Given the description of an element on the screen output the (x, y) to click on. 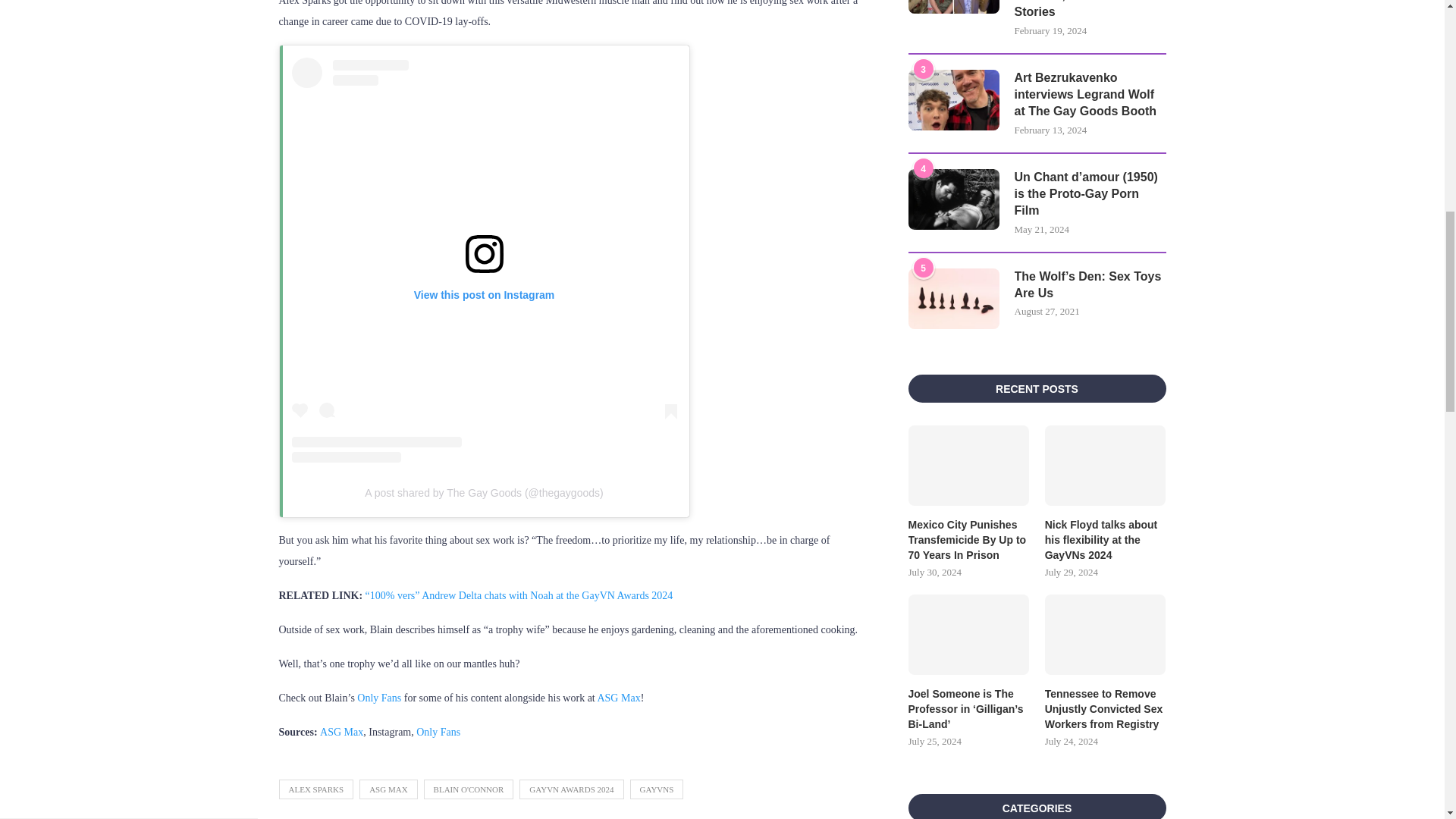
GAYVN AWARDS 2024 (571, 789)
ASG Max (341, 731)
Only Fans (378, 697)
ALEX SPARKS (316, 789)
ASG MAX (387, 789)
ASG Max (618, 697)
Only Fans (438, 731)
GAYVNS (655, 789)
BLAIN O'CONNOR (468, 789)
